Given the description of an element on the screen output the (x, y) to click on. 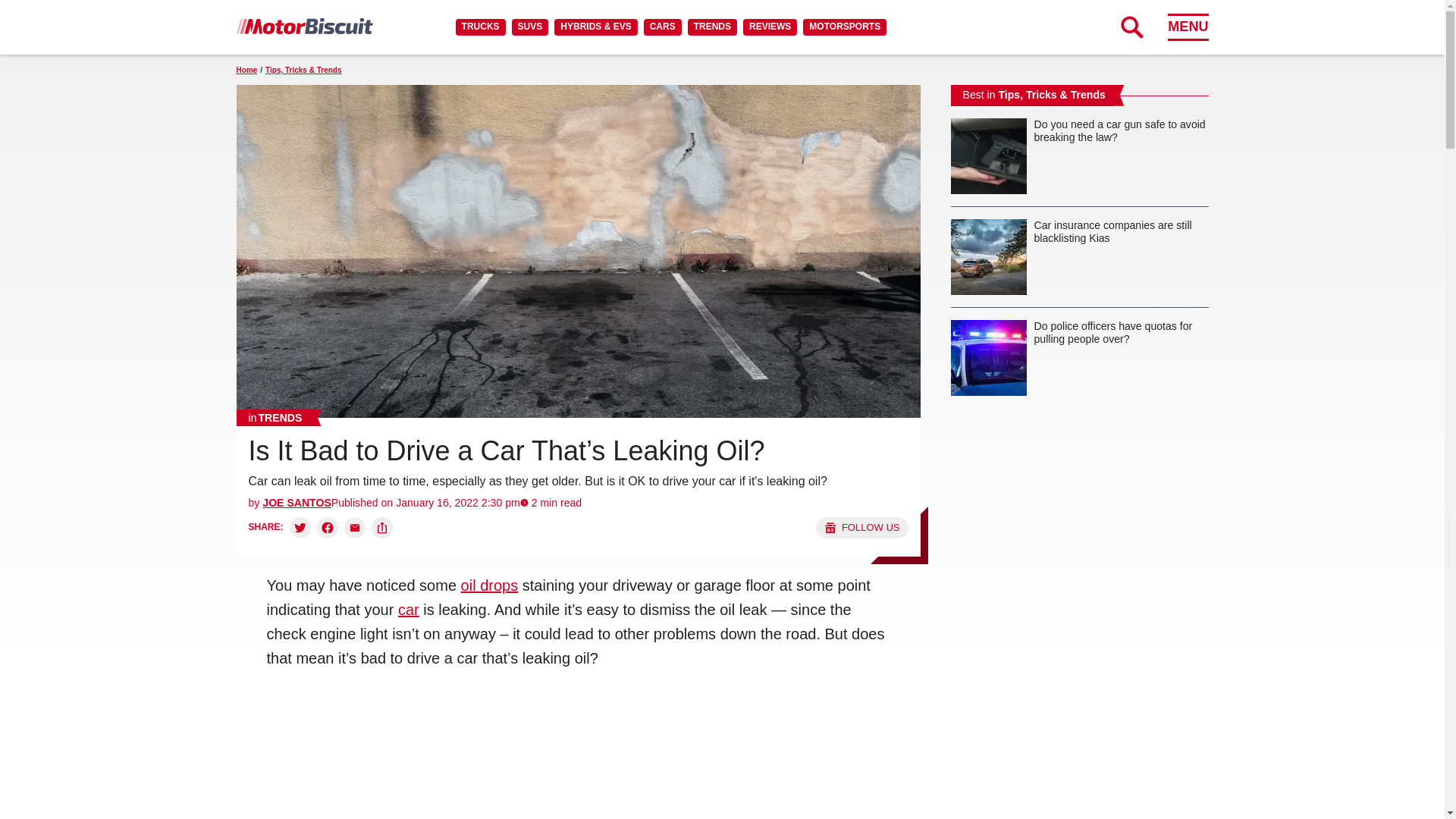
CARS (662, 26)
MOTORSPORTS (844, 26)
Copy link and share:  (382, 527)
Follow us on Google News (861, 527)
MotorBiscuit (303, 26)
TRENDS (711, 26)
SUVS (530, 26)
Expand Search (1131, 26)
TRUCKS (480, 26)
